Given the description of an element on the screen output the (x, y) to click on. 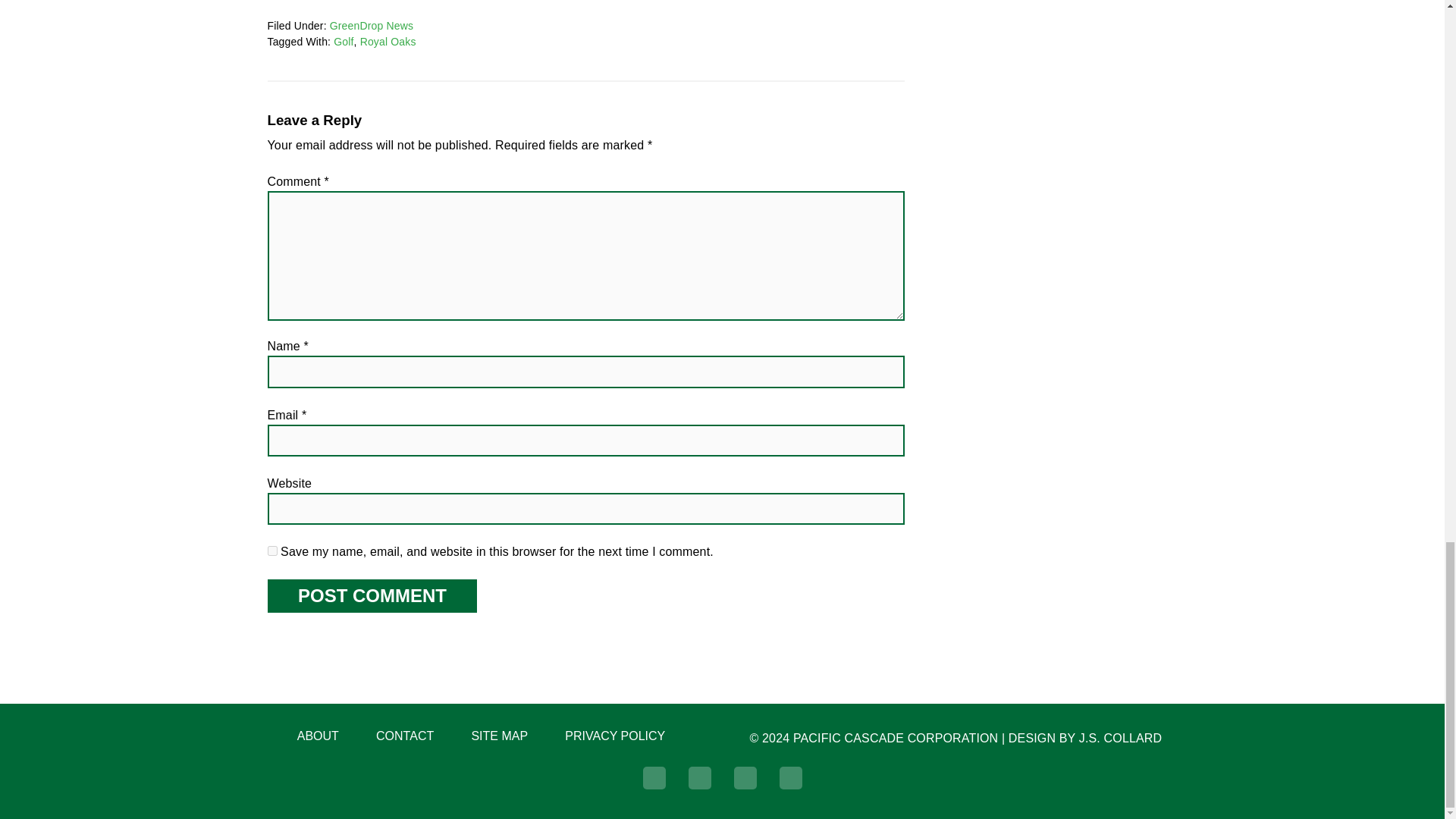
GreenDrop News (371, 25)
Golf (343, 41)
yes (271, 551)
Royal Oaks (387, 41)
Post Comment (371, 595)
Post Comment (371, 595)
